Given the description of an element on the screen output the (x, y) to click on. 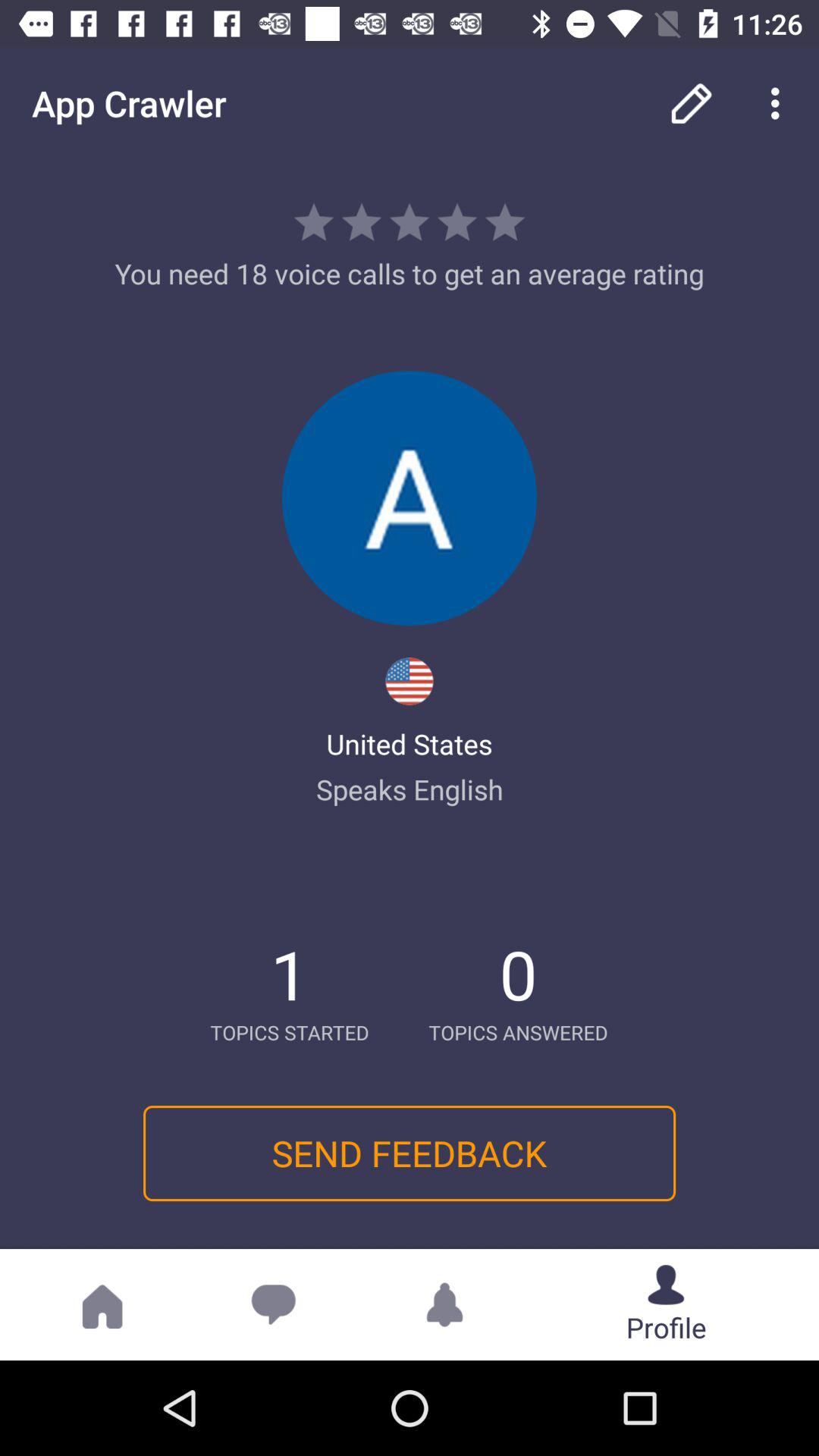
tap the icon to the right of the app crawler item (691, 103)
